Given the description of an element on the screen output the (x, y) to click on. 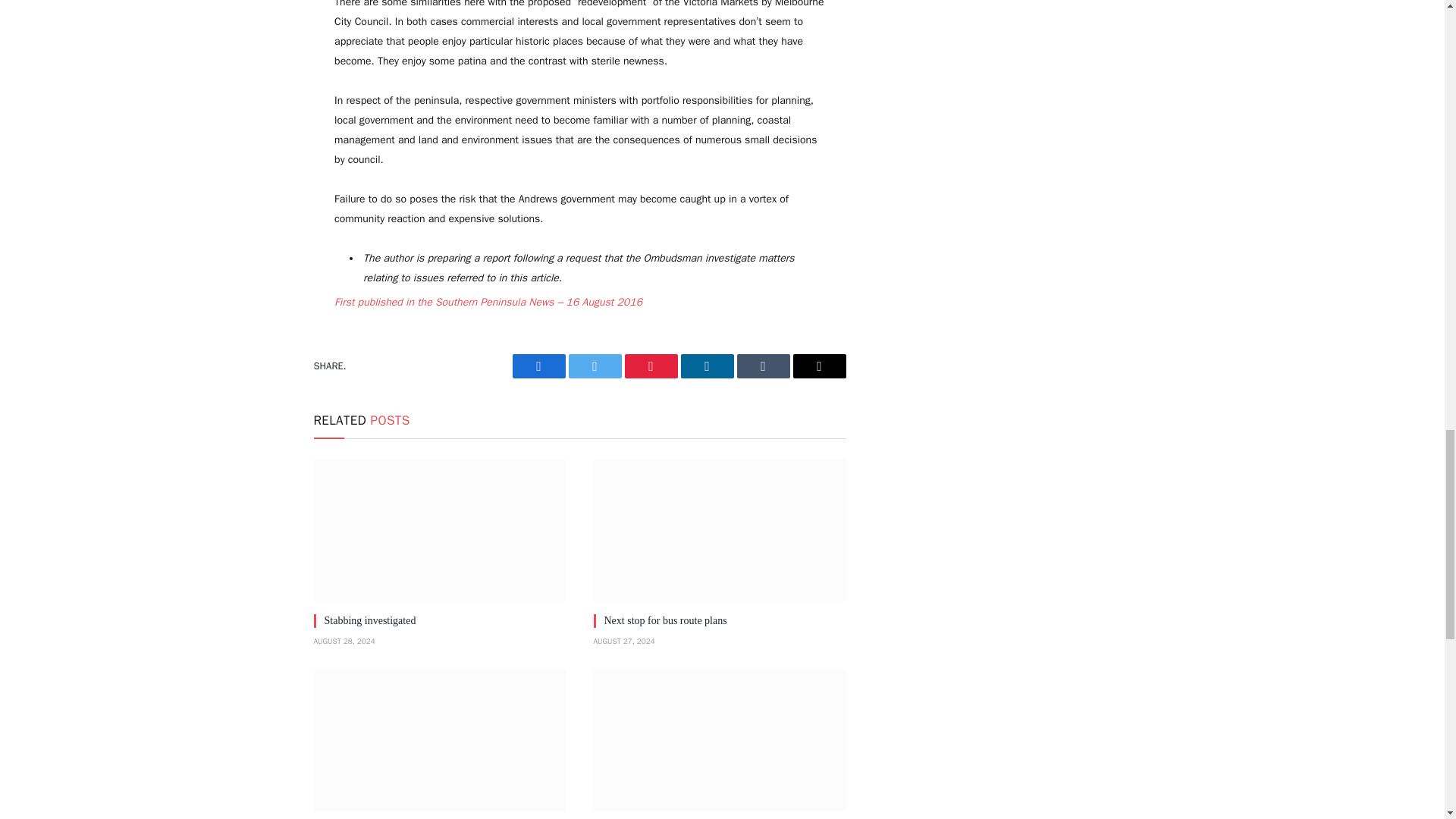
Share on LinkedIn (707, 365)
Share via Email (819, 365)
Share on Facebook (539, 365)
Share on Tumblr (763, 365)
Share on Pinterest (651, 365)
